Given the description of an element on the screen output the (x, y) to click on. 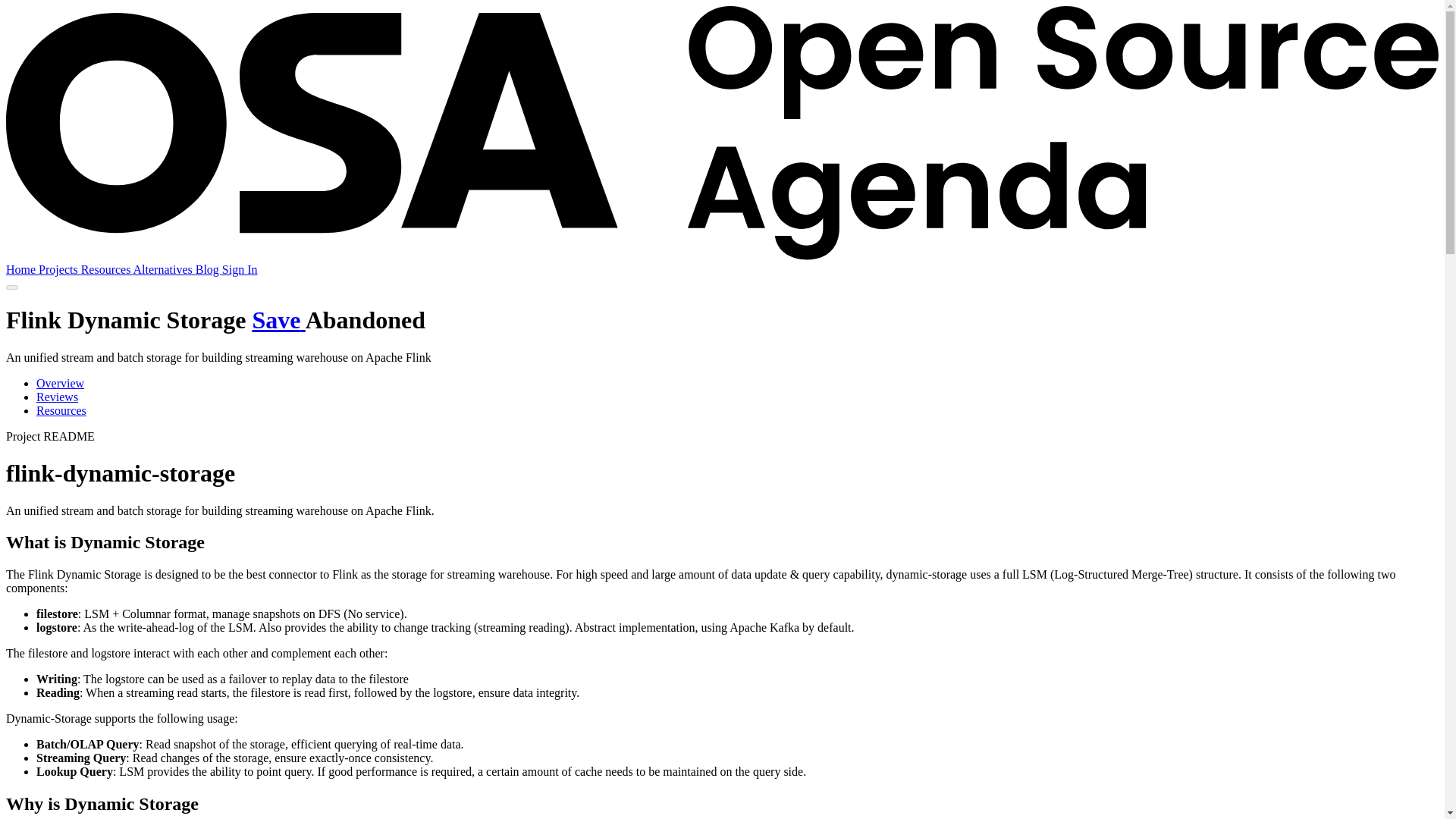
Projects (60, 269)
Home (22, 269)
Alternatives (164, 269)
Reviews (57, 396)
Blog (208, 269)
Sign In (239, 269)
Save (277, 319)
Overview (60, 382)
Resources (60, 410)
Resources (107, 269)
